Given the description of an element on the screen output the (x, y) to click on. 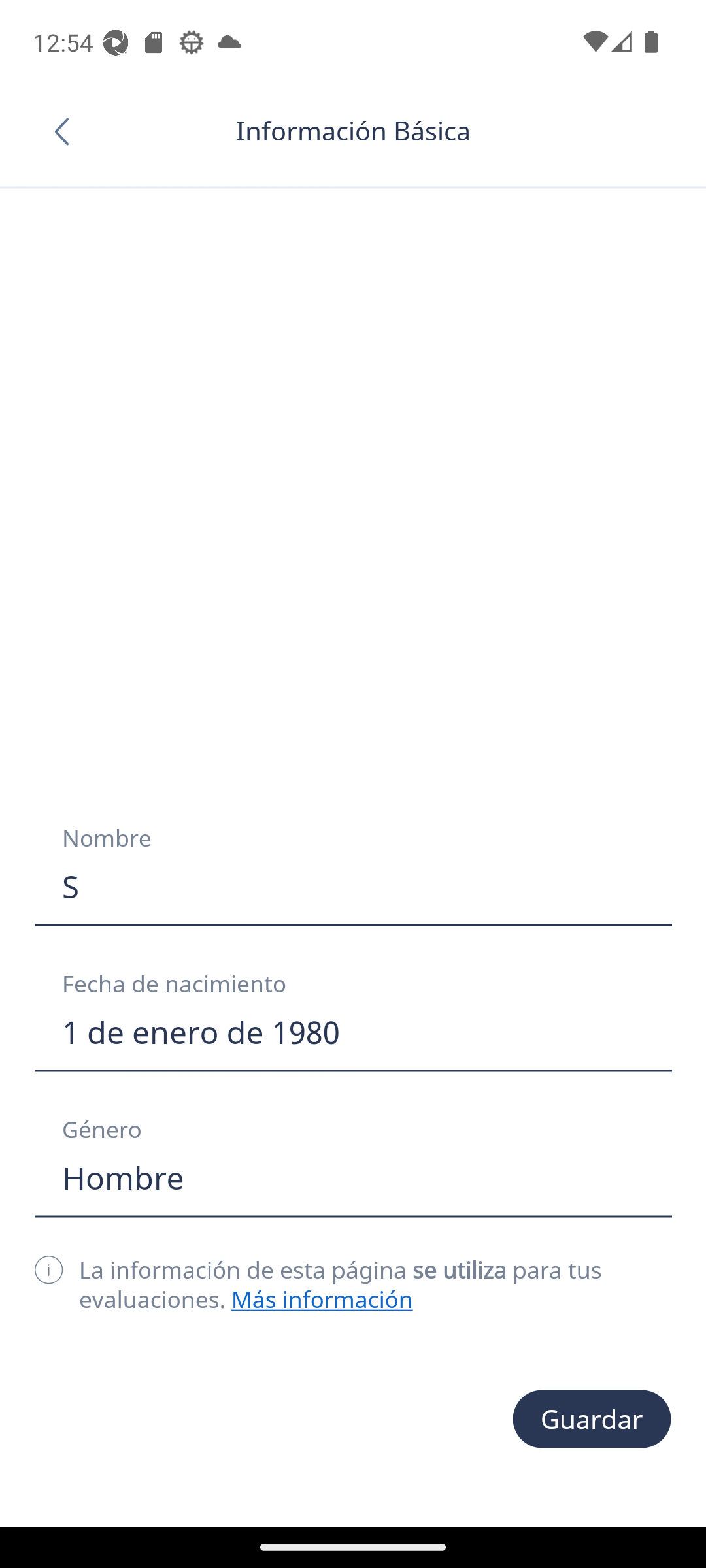
Go back, Navigates to the previous screen (68, 131)
S (353, 886)
1 de enero de 1980 (353, 1032)
Hombre (353, 1178)
Guardar (591, 1418)
